Given the description of an element on the screen output the (x, y) to click on. 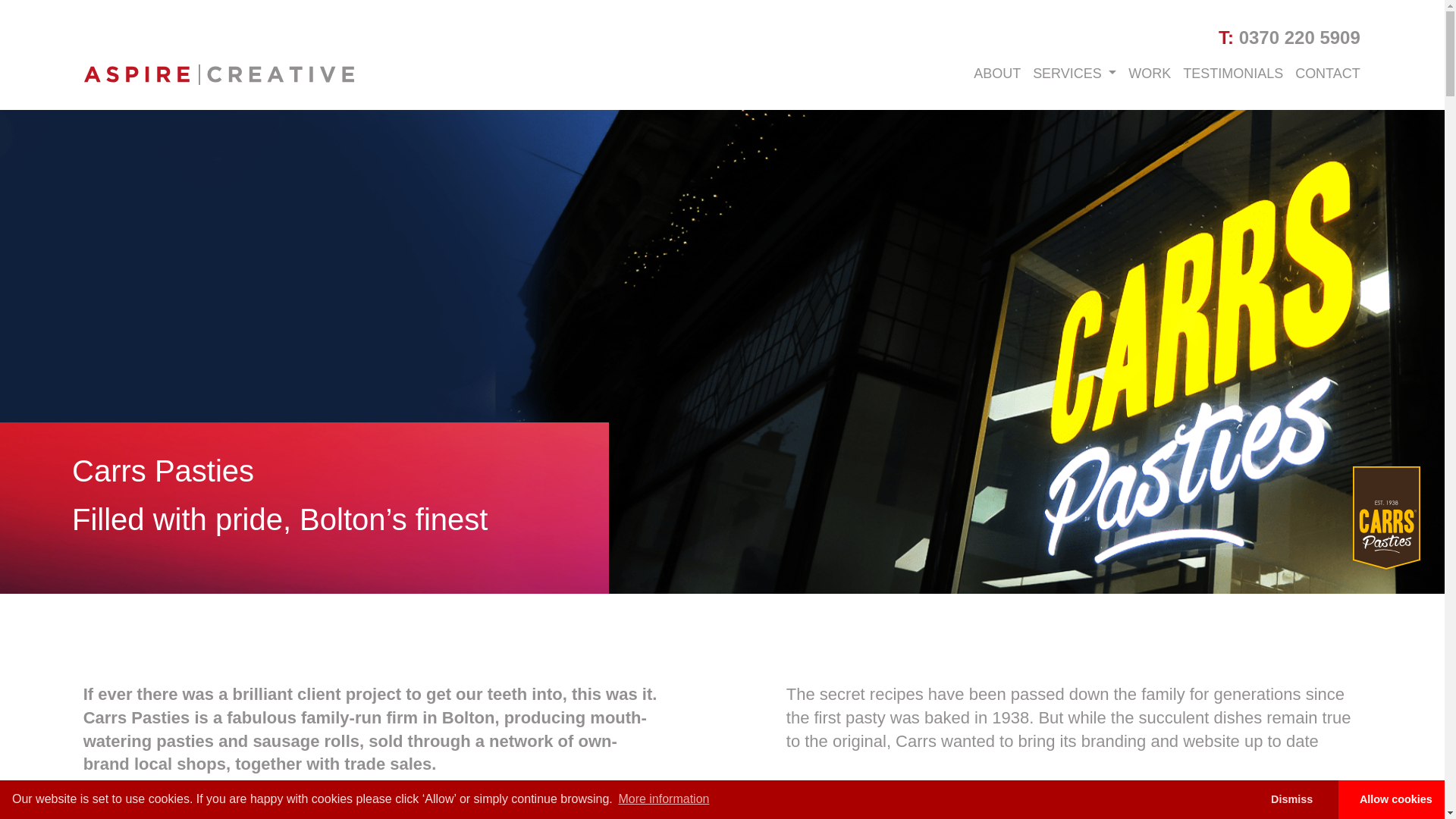
More information (663, 798)
WORK (1149, 73)
ABOUT (997, 73)
0370 220 5909 (1299, 37)
Dismiss (1291, 799)
SERVICES (1074, 73)
TESTIMONIALS (1232, 73)
CONTACT (1327, 73)
